Given the description of an element on the screen output the (x, y) to click on. 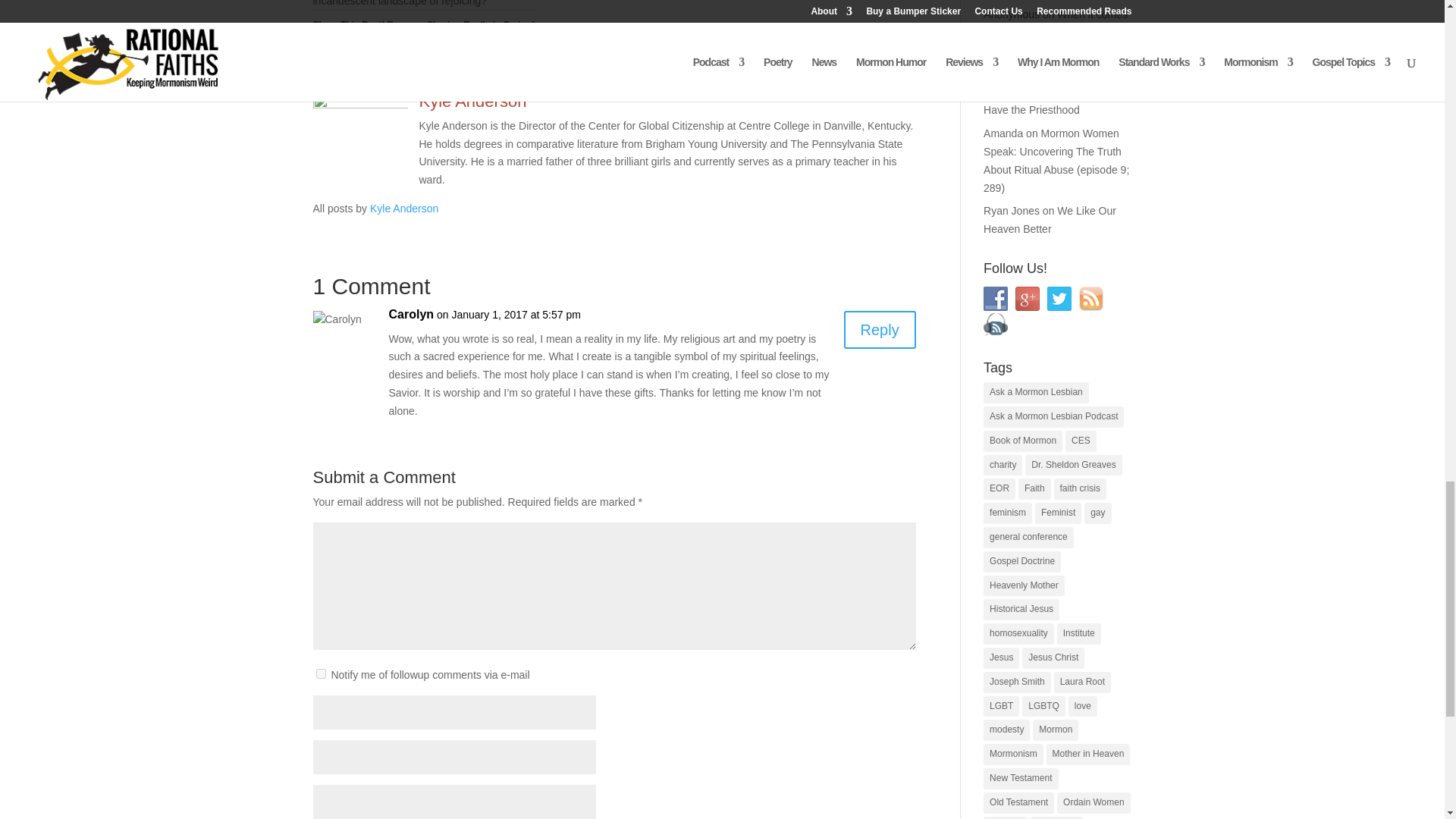
Click to share on Facebook (354, 59)
Click to share on Reddit (324, 59)
Click to share on LinkedIn (475, 59)
subscribe (319, 673)
Click to share on Tumblr (445, 59)
Click to share on Twitter (384, 59)
Posts by Kyle Anderson (403, 208)
Follow Us on iTunes Podcast (995, 323)
Follow Us on RSS (1090, 298)
Click to email a link to a friend (506, 59)
Click to share on Pinterest (415, 59)
Follow Us on Twitter (1058, 298)
Follow Us on Facebook (995, 298)
Posts by Kyle Anderson (472, 100)
